Given the description of an element on the screen output the (x, y) to click on. 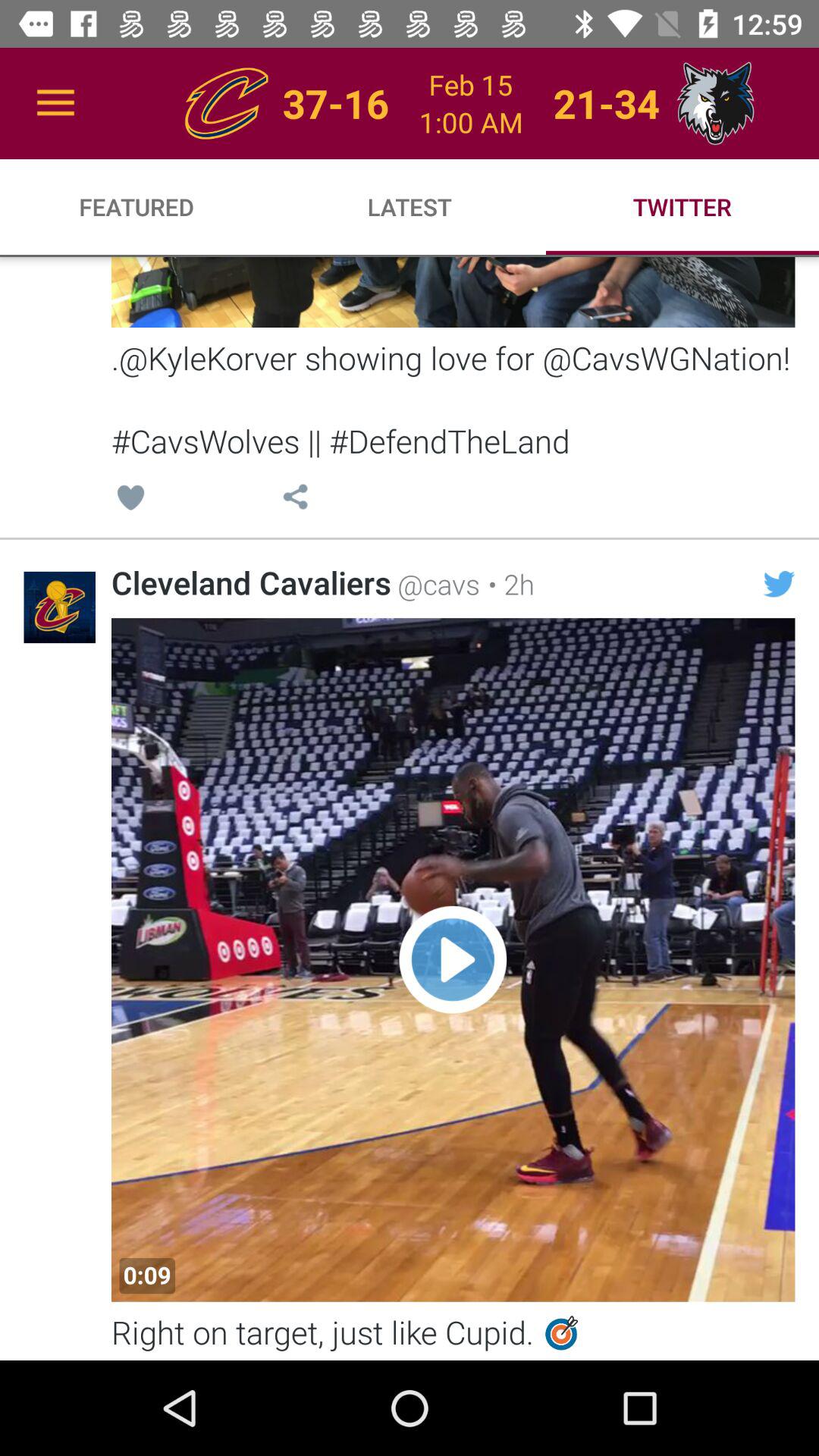
launch the icon next to the @cavs item (507, 583)
